Given the description of an element on the screen output the (x, y) to click on. 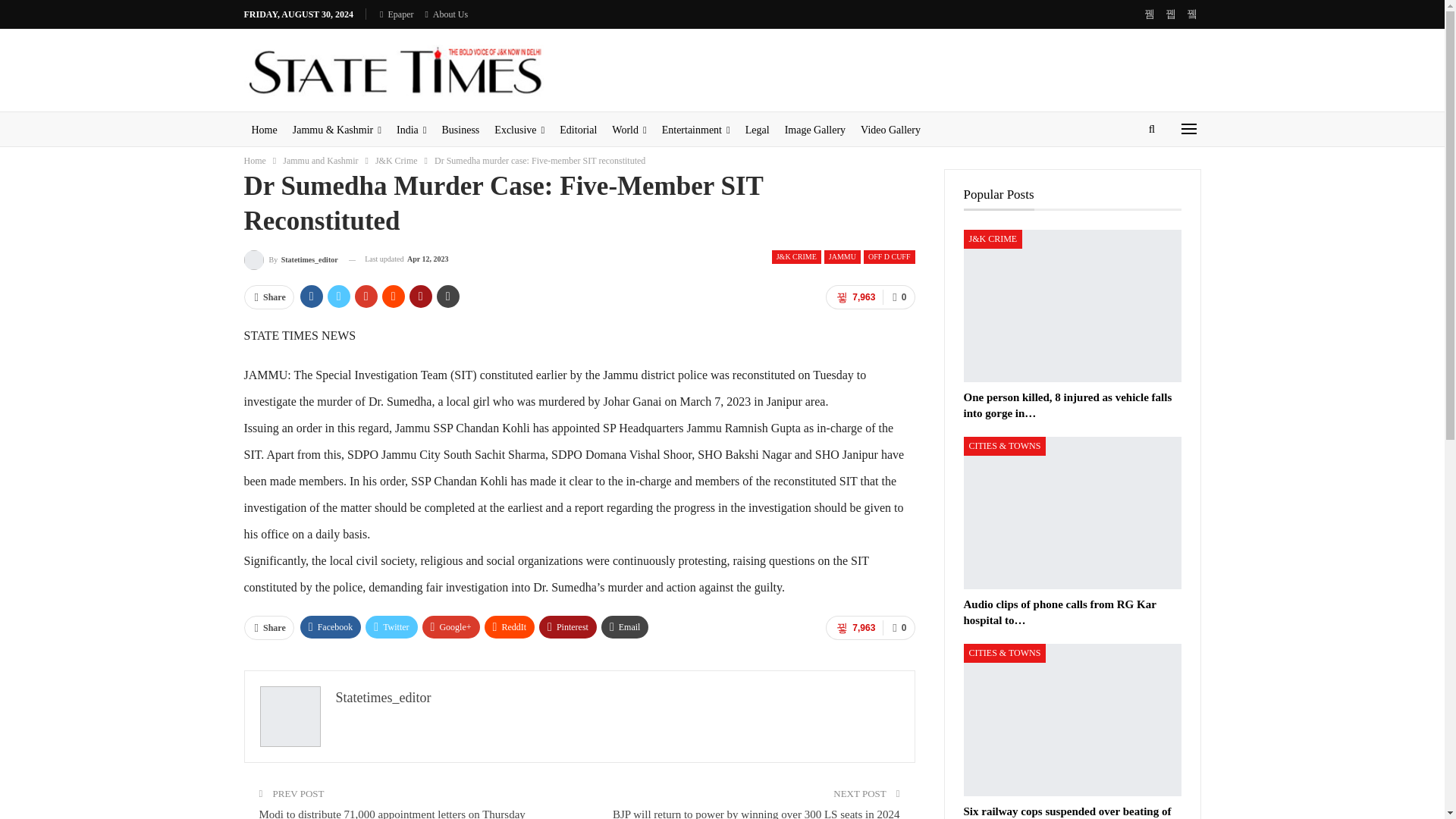
Home (264, 130)
India (410, 130)
Epaper (396, 14)
About Us (446, 14)
